Given the description of an element on the screen output the (x, y) to click on. 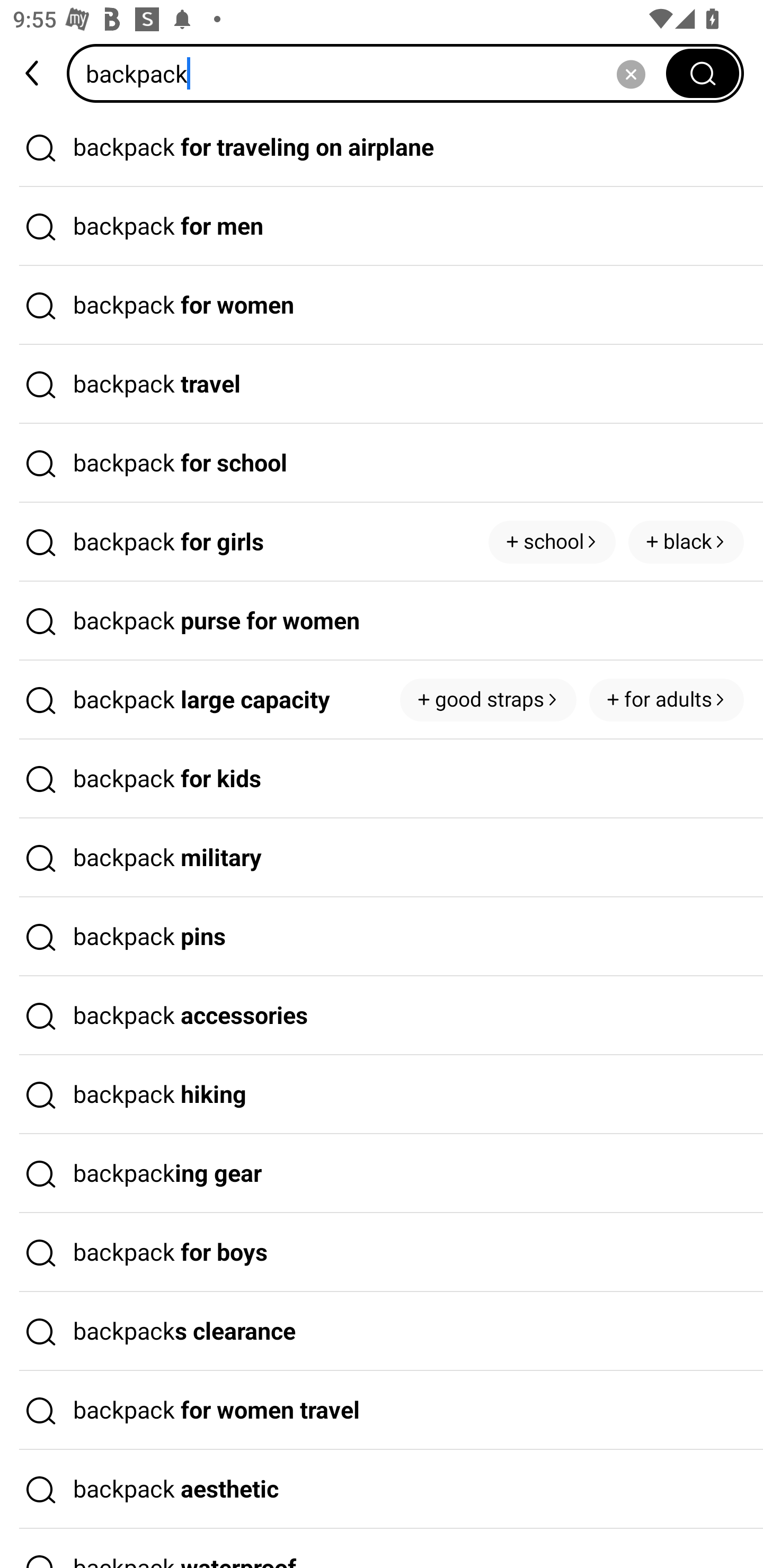
back (33, 72)
backpack (372, 73)
Delete search history (630, 73)
backpack for traveling on airplane (381, 147)
backpack for men (381, 226)
backpack for women (381, 305)
backpack travel (381, 383)
backpack for school (381, 463)
backpack for girls school black (381, 542)
school (551, 541)
black (685, 541)
backpack purse for women (381, 620)
backpack large capacity good straps for adults (381, 700)
good straps (487, 699)
for adults (666, 699)
backpack for kids (381, 779)
backpack military (381, 857)
backpack pins (381, 936)
backpack accessories (381, 1015)
backpack hiking (381, 1094)
backpacking gear (381, 1173)
backpack for boys (381, 1252)
backpacks clearance (381, 1331)
backpack for women travel (381, 1410)
backpack aesthetic (381, 1489)
